Given the description of an element on the screen output the (x, y) to click on. 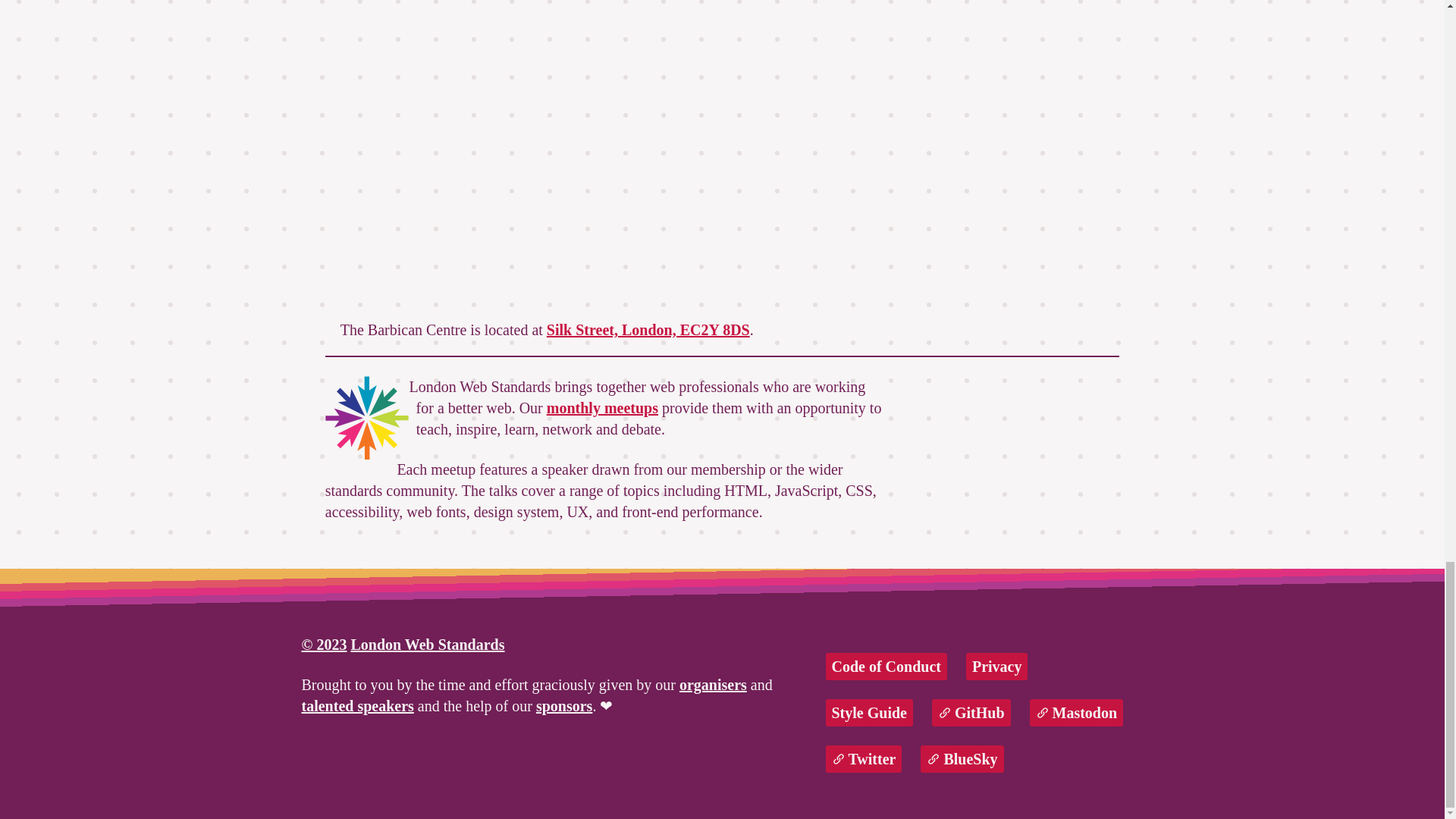
BlueSky (961, 759)
Style Guide (868, 712)
London Web Standards (426, 644)
Code of Conduct (885, 666)
Silk Street, London, EC2Y 8DS (648, 329)
Twitter (863, 759)
GitHub (970, 712)
Privacy (996, 666)
Mastodon (1076, 712)
sponsors (563, 705)
monthly meetups (602, 407)
organisers (712, 684)
talented speakers (357, 705)
